Given the description of an element on the screen output the (x, y) to click on. 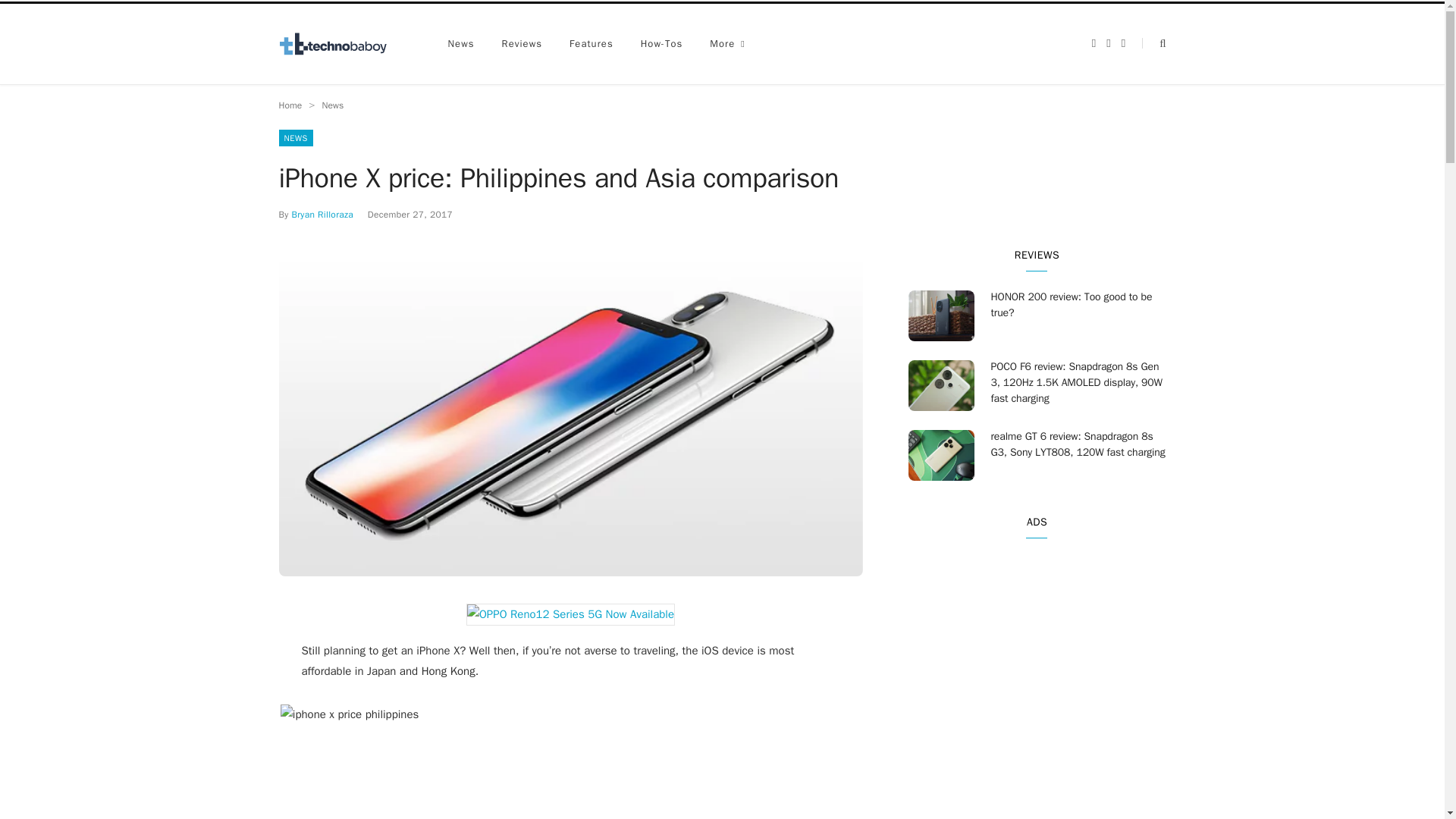
Technobaboy (339, 43)
Home (290, 105)
NEWS (296, 137)
December 27, 2017 (410, 214)
Bryan Rilloraza (322, 214)
Search (1153, 43)
Posts by Bryan Rilloraza (322, 214)
News (332, 105)
